Given the description of an element on the screen output the (x, y) to click on. 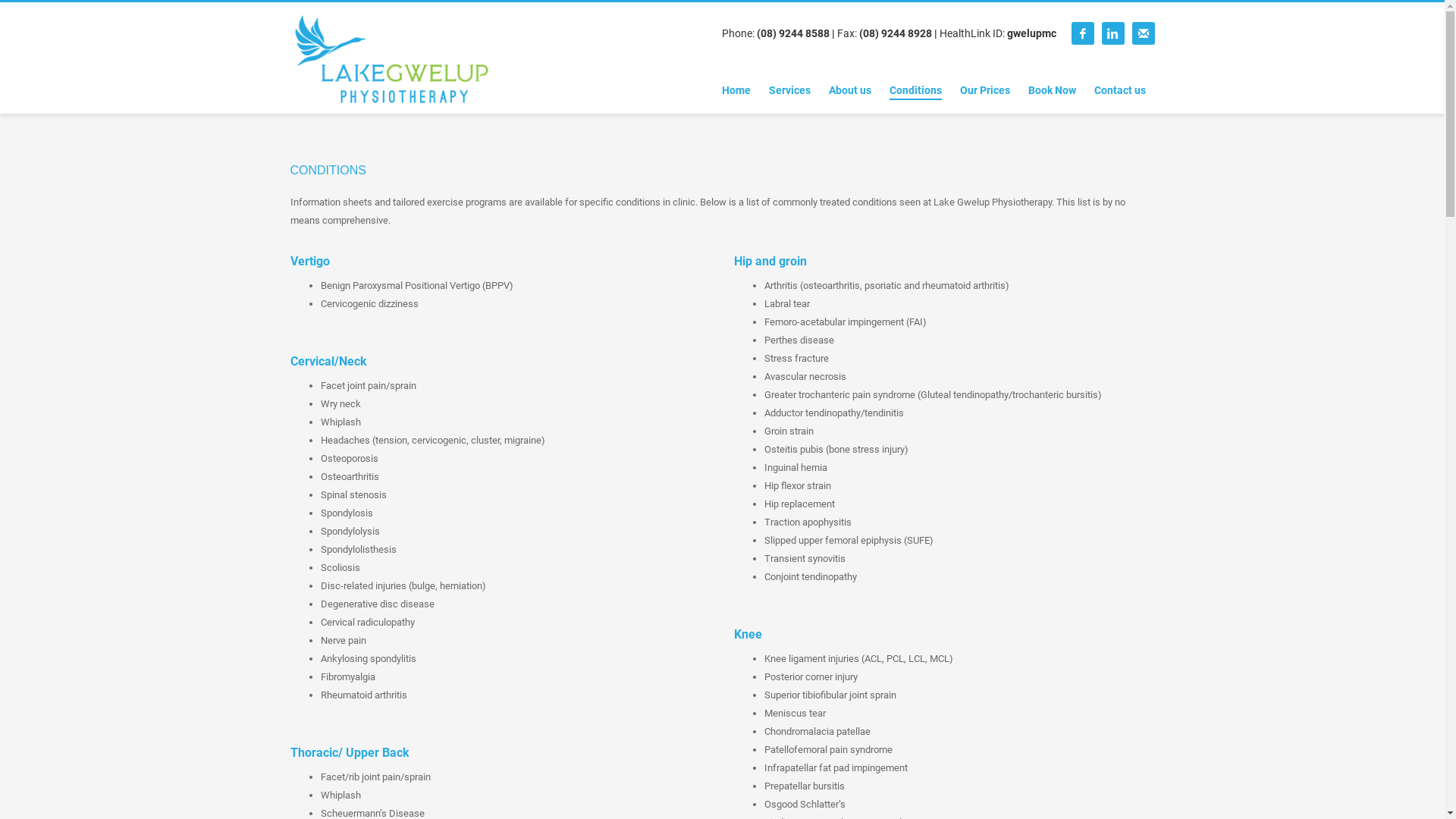
Book Now Element type: text (1052, 90)
Lake Gwelup Physiotherapy Element type: hover (390, 59)
Our Prices Element type: text (984, 90)
Phone: (08) 9244 8588 Element type: text (775, 33)
Home Element type: text (735, 90)
Contact us Element type: text (1119, 90)
Services Element type: text (789, 90)
Conditions Element type: text (915, 90)
About us Element type: text (849, 90)
